Given the description of an element on the screen output the (x, y) to click on. 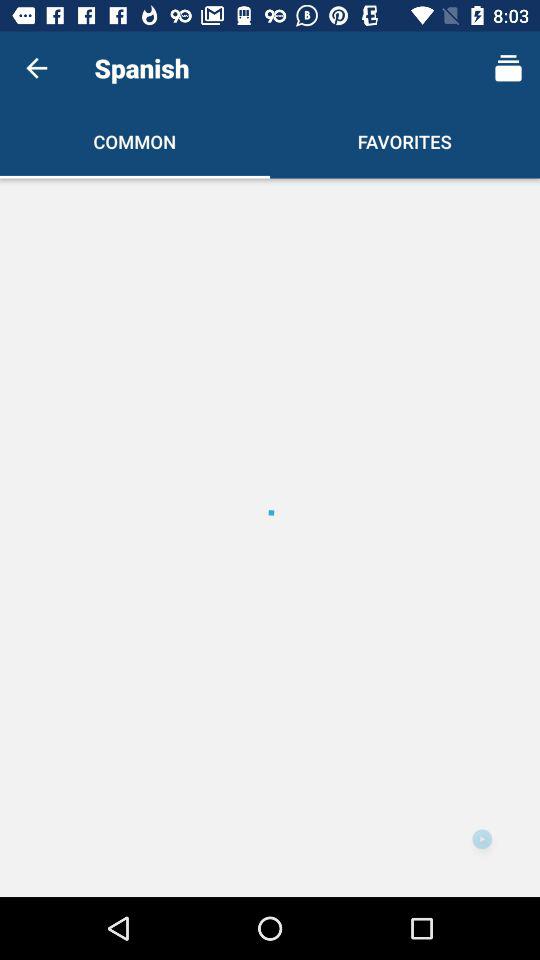
click on icon next to spanish (508, 68)
